Given the description of an element on the screen output the (x, y) to click on. 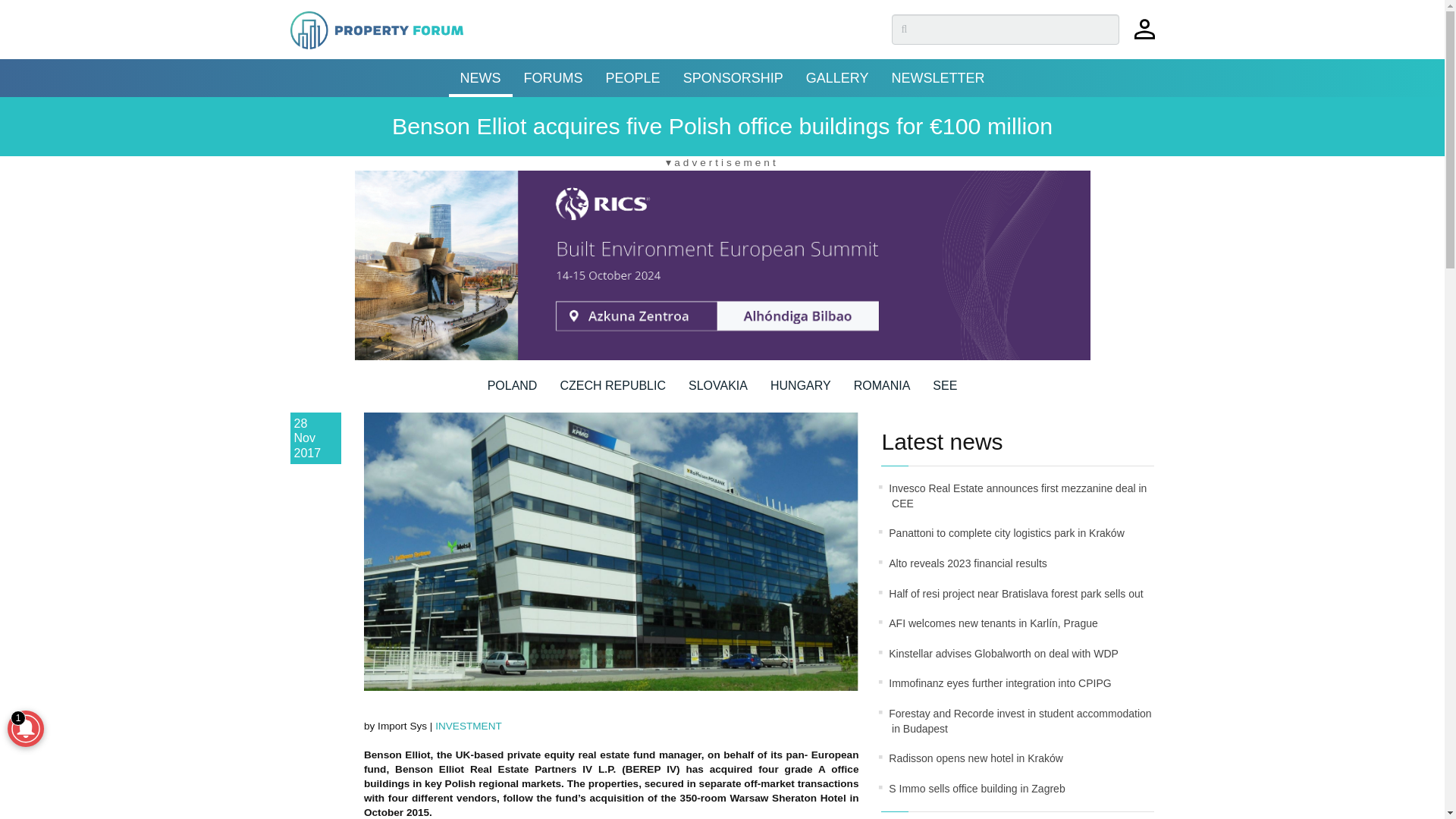
NEWSLETTER (937, 77)
FORUMS (553, 77)
INVESTMENT (468, 726)
POLAND (512, 390)
HUNGARY (800, 390)
GALLERY (837, 77)
ROMANIA (882, 390)
SPONSORSHIP (732, 77)
SLOVAKIA (718, 390)
Signed out (1144, 36)
PEOPLE (632, 77)
NEWS (480, 77)
CZECH REPUBLIC (612, 390)
SEE (944, 390)
